Given the description of an element on the screen output the (x, y) to click on. 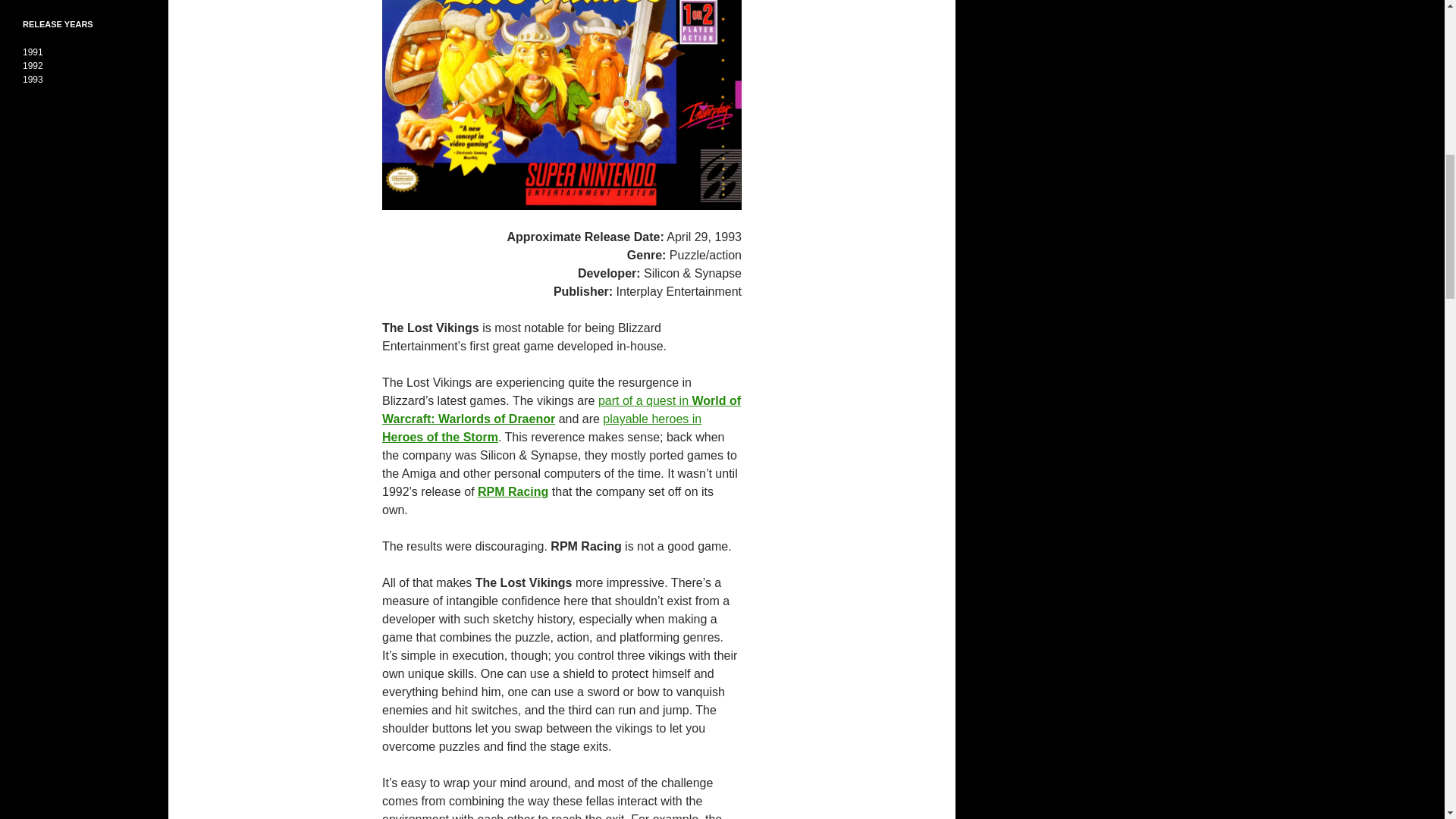
The Lost Vikings in World of Warcraft: Warlords of Draenor (561, 409)
The Lost Vikings in Heroes of the Storm (541, 427)
RPM Racing (512, 491)
playable heroes in Heroes of the Storm (541, 427)
part of a quest in World of Warcraft: Warlords of Draenor (561, 409)
SNES A Day 19: RPM Racing (512, 491)
